Given the description of an element on the screen output the (x, y) to click on. 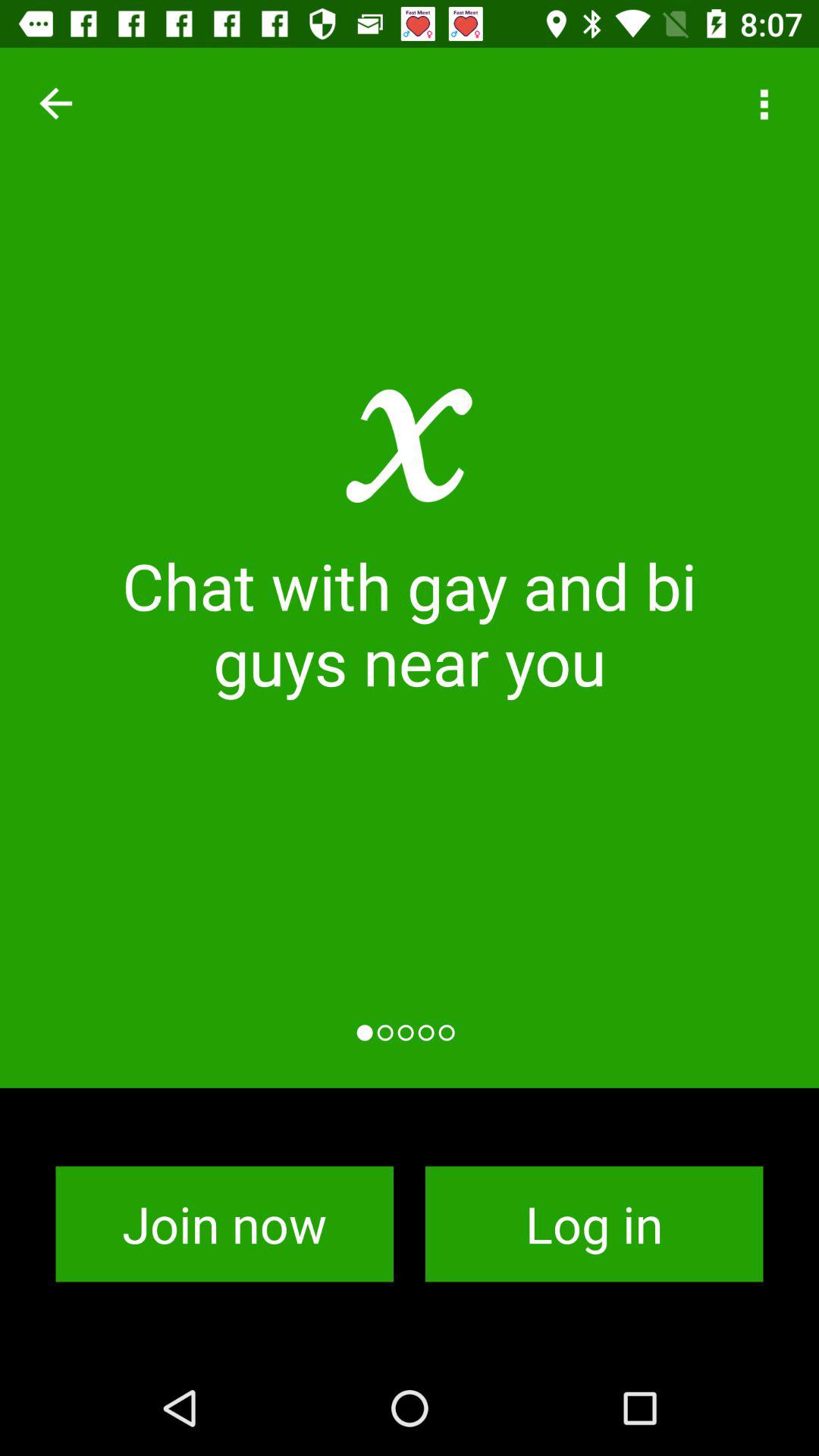
flip until log in icon (594, 1223)
